Given the description of an element on the screen output the (x, y) to click on. 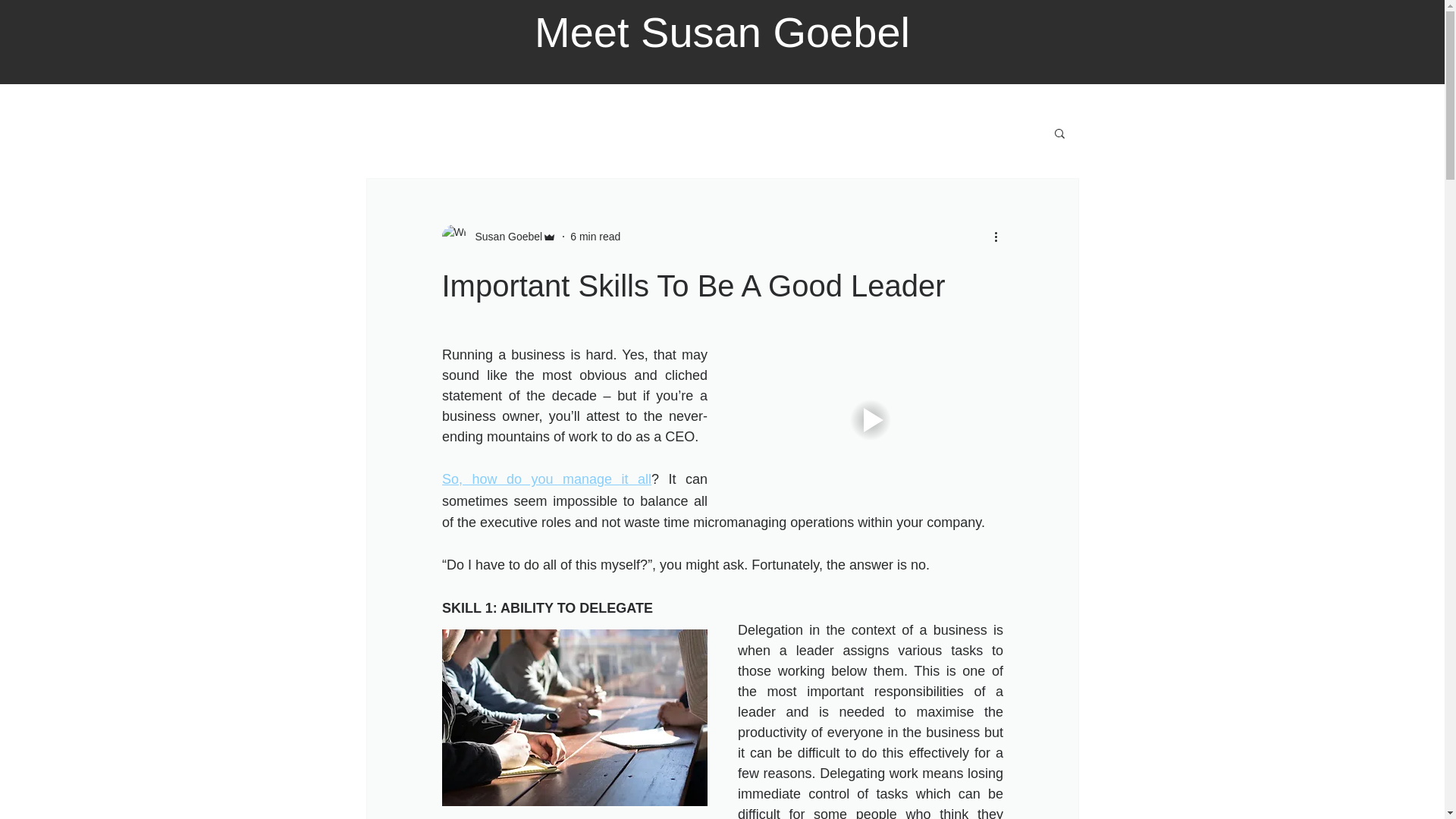
Susan Goebel (498, 236)
6 min read (595, 236)
Susan Goebel (503, 236)
So, how do you manage it all (545, 478)
